Given the description of an element on the screen output the (x, y) to click on. 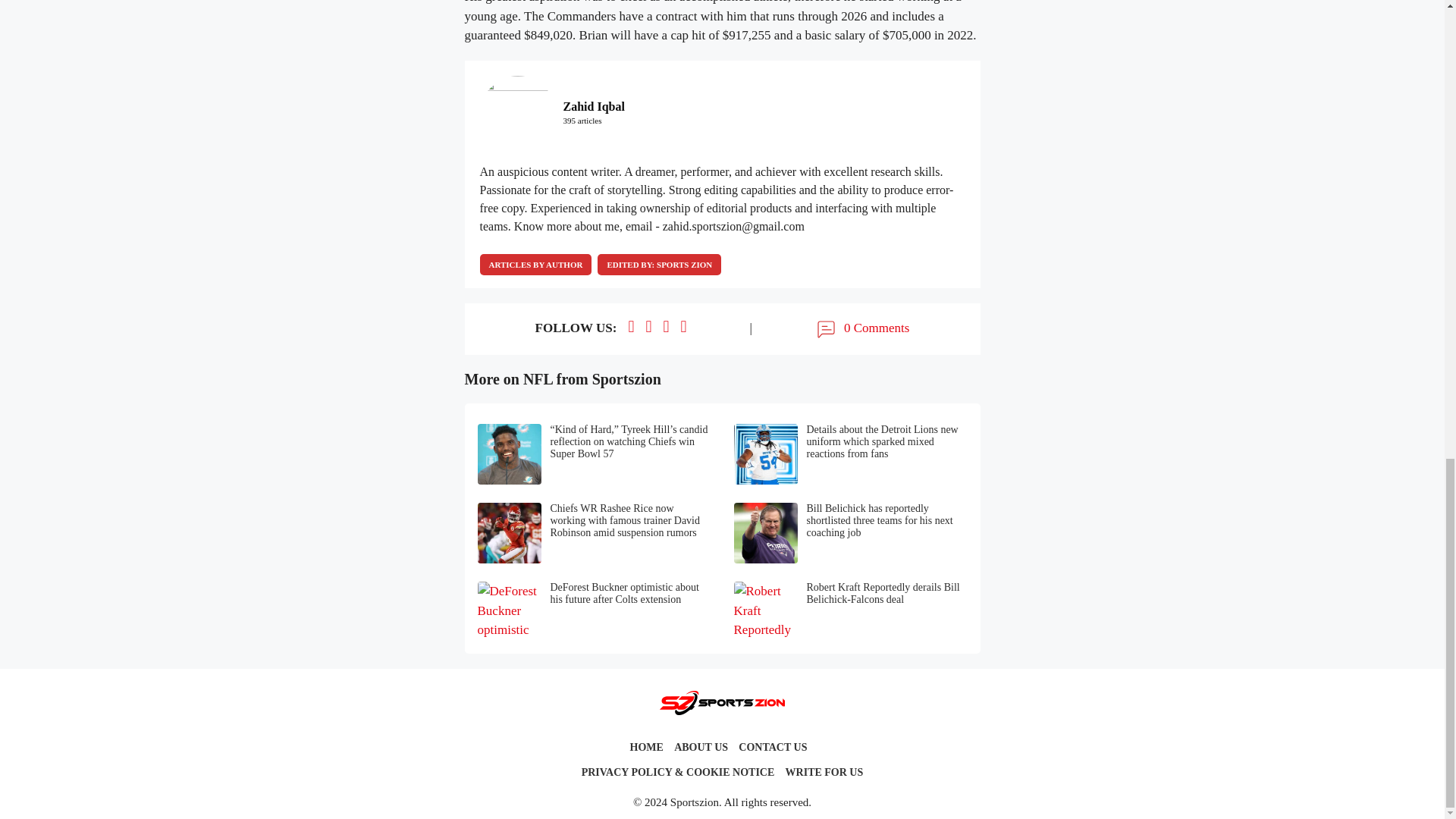
EDITED BY: SPORTS ZION (658, 264)
Robert Kraft Reportedly derails Bill Belichick-Falcons deal (850, 611)
ARTICLES BY AUTHOR (535, 264)
0 Comments (861, 328)
